Given the description of an element on the screen output the (x, y) to click on. 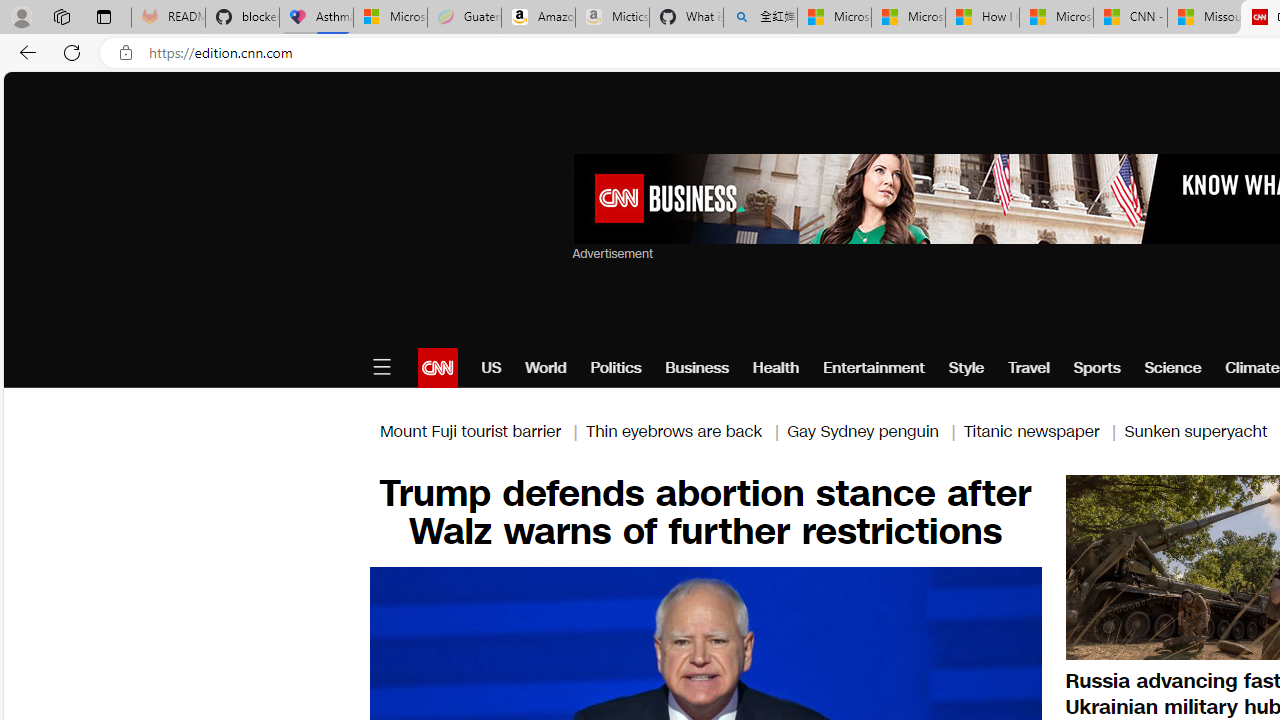
Thin eyebrows are back | (686, 430)
Climate (1252, 367)
Mount Fuji tourist barrier | (482, 430)
Gay Sydney penguin | (875, 430)
World (545, 367)
Business (697, 367)
